Given the description of an element on the screen output the (x, y) to click on. 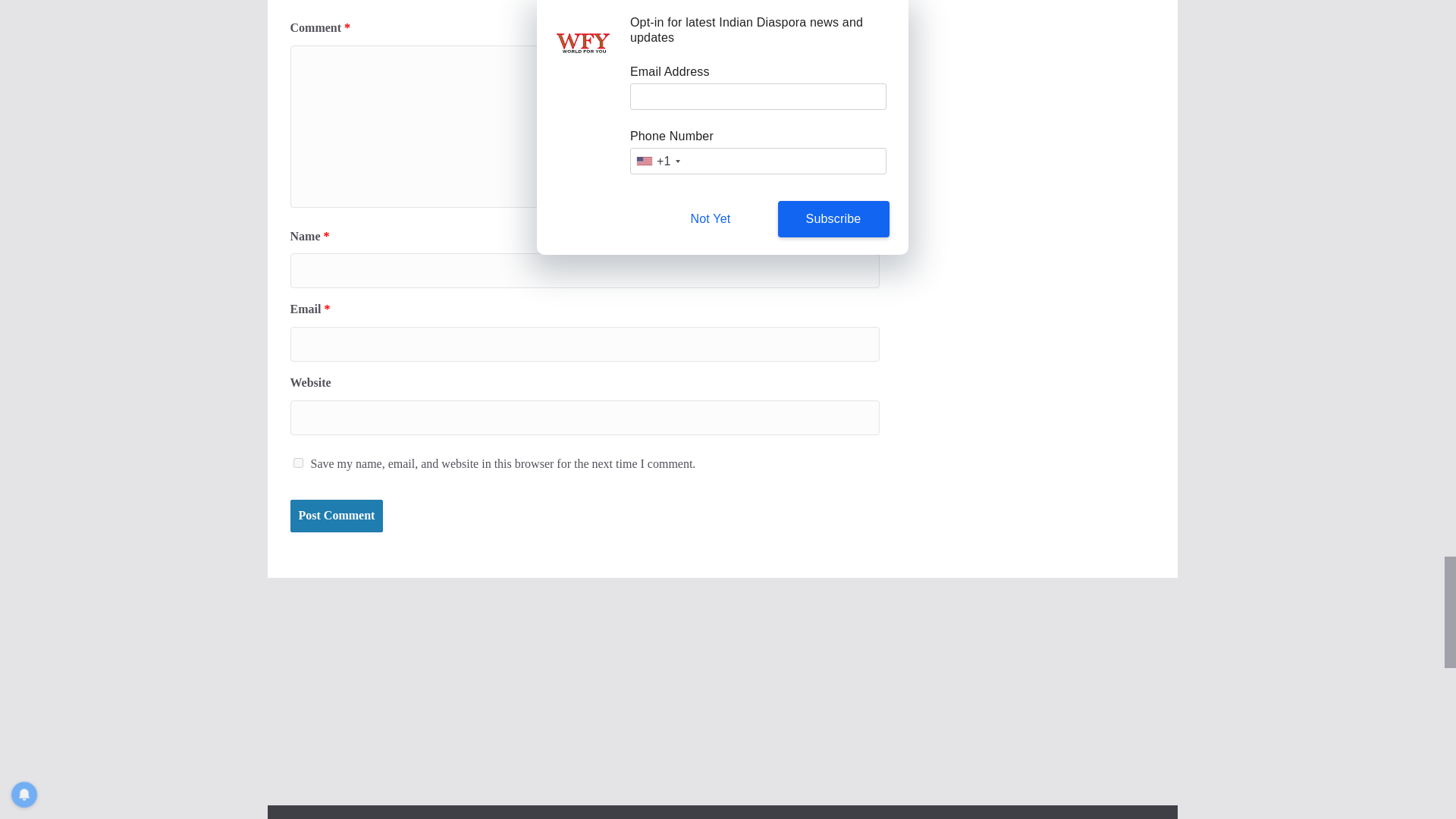
Post Comment (335, 515)
yes (297, 462)
